Given the description of an element on the screen output the (x, y) to click on. 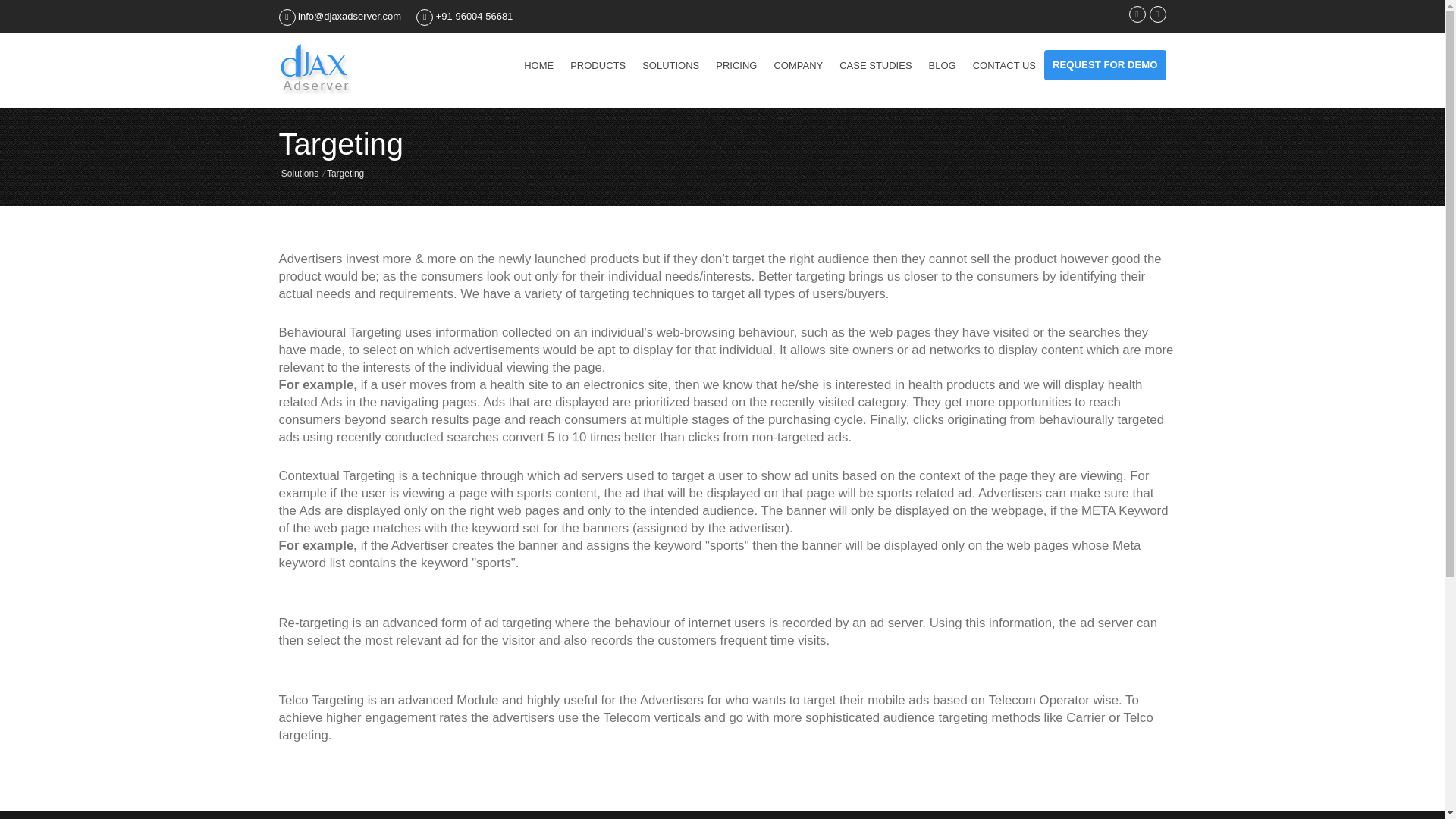
PRICING (736, 65)
REQUEST FOR DEMO (1104, 64)
CASE STUDIES (875, 65)
BLOG (941, 65)
HOME (538, 65)
CONTACT US (1003, 65)
